Given the description of an element on the screen output the (x, y) to click on. 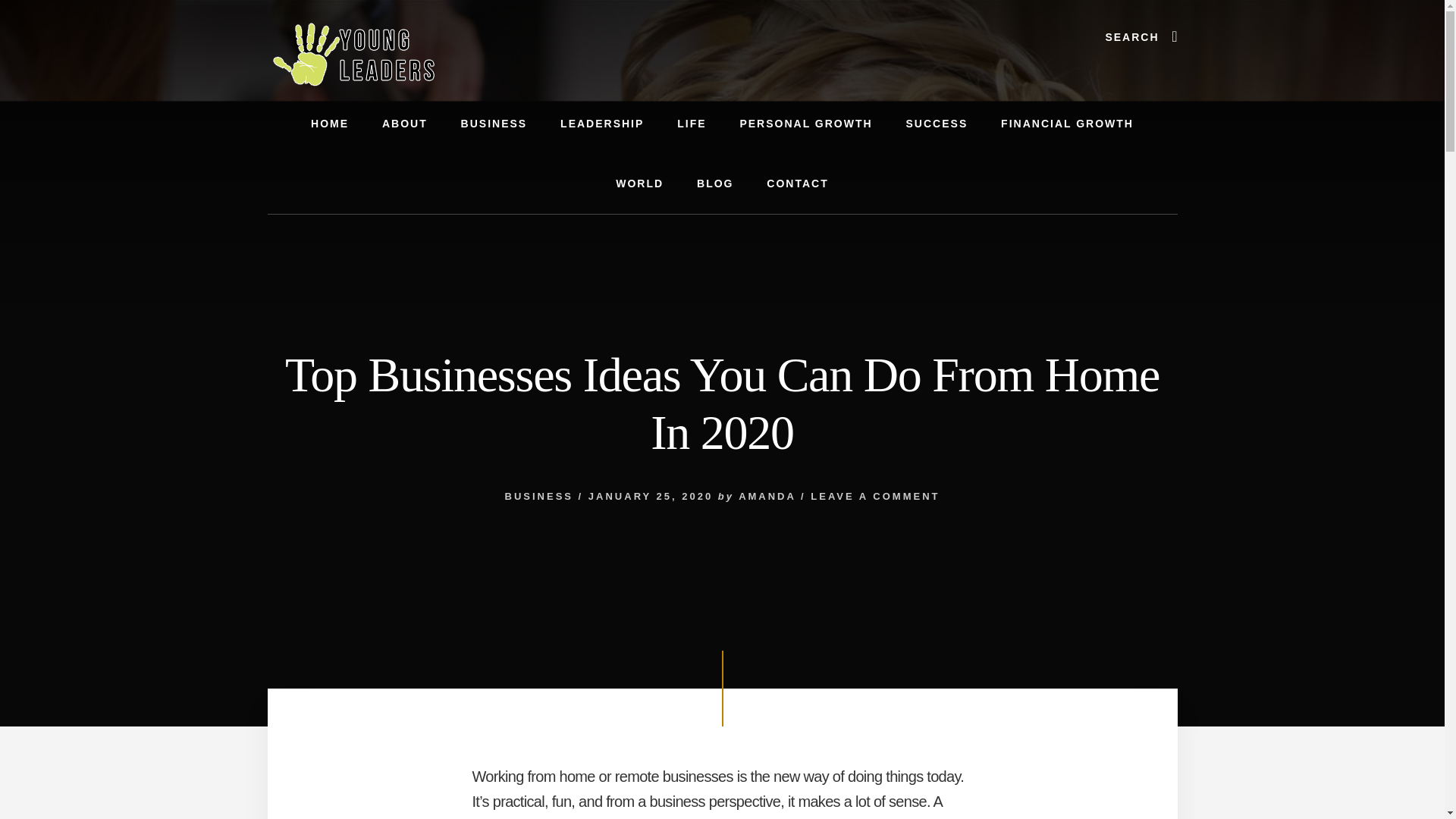
PERSONAL GROWTH (804, 123)
LIFE (691, 123)
BUSINESS (494, 123)
LEAVE A COMMENT (874, 496)
CONTACT (797, 183)
BUSINESS (539, 496)
BLOG (714, 183)
FINANCIAL GROWTH (1066, 123)
WORLD (638, 183)
